Given the description of an element on the screen output the (x, y) to click on. 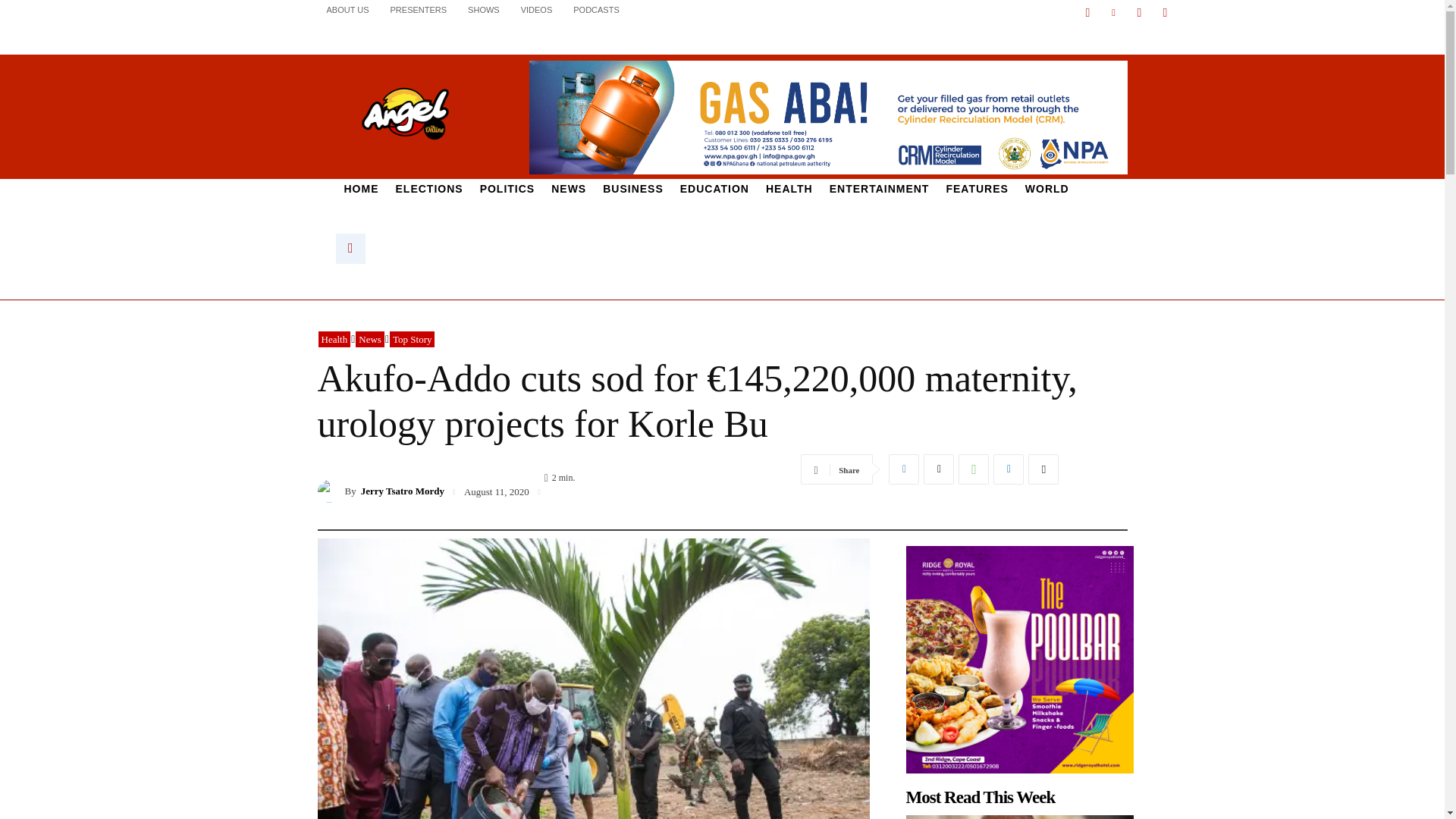
BUSINESS (632, 188)
Youtube (1164, 13)
ABOUT US (346, 9)
VIDEOS (537, 9)
Facebook (903, 469)
EDUCATION (714, 188)
Twitter (1138, 13)
WhatsApp (973, 469)
Twitter (938, 469)
FEATURES (976, 188)
WORLD (1046, 188)
NEWS (568, 188)
Linkedin (1112, 13)
HOME (360, 188)
Jerry Tsatro Mordy (330, 490)
